Given the description of an element on the screen output the (x, y) to click on. 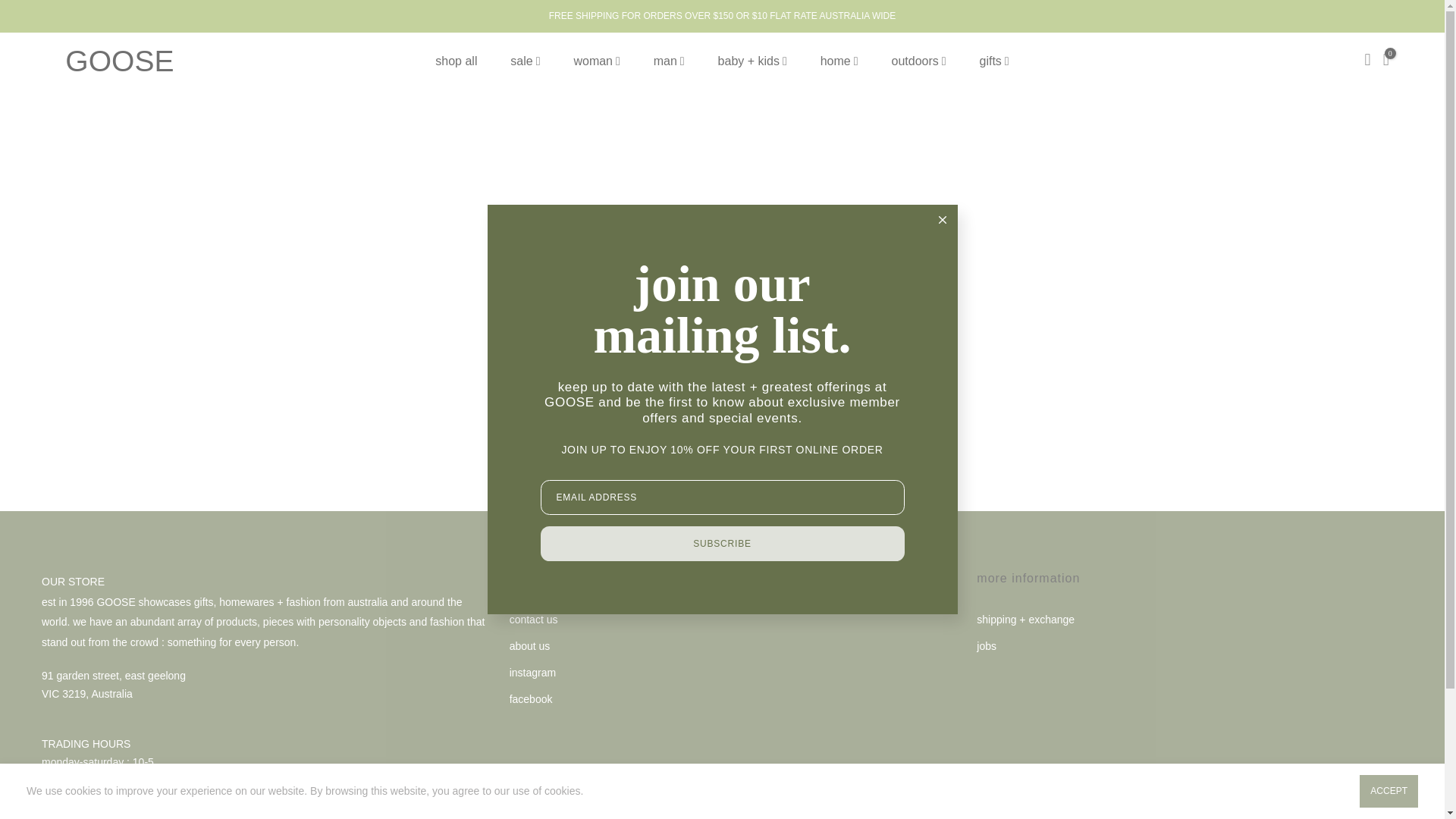
shop all (456, 60)
sale (525, 60)
woman (596, 60)
